Given the description of an element on the screen output the (x, y) to click on. 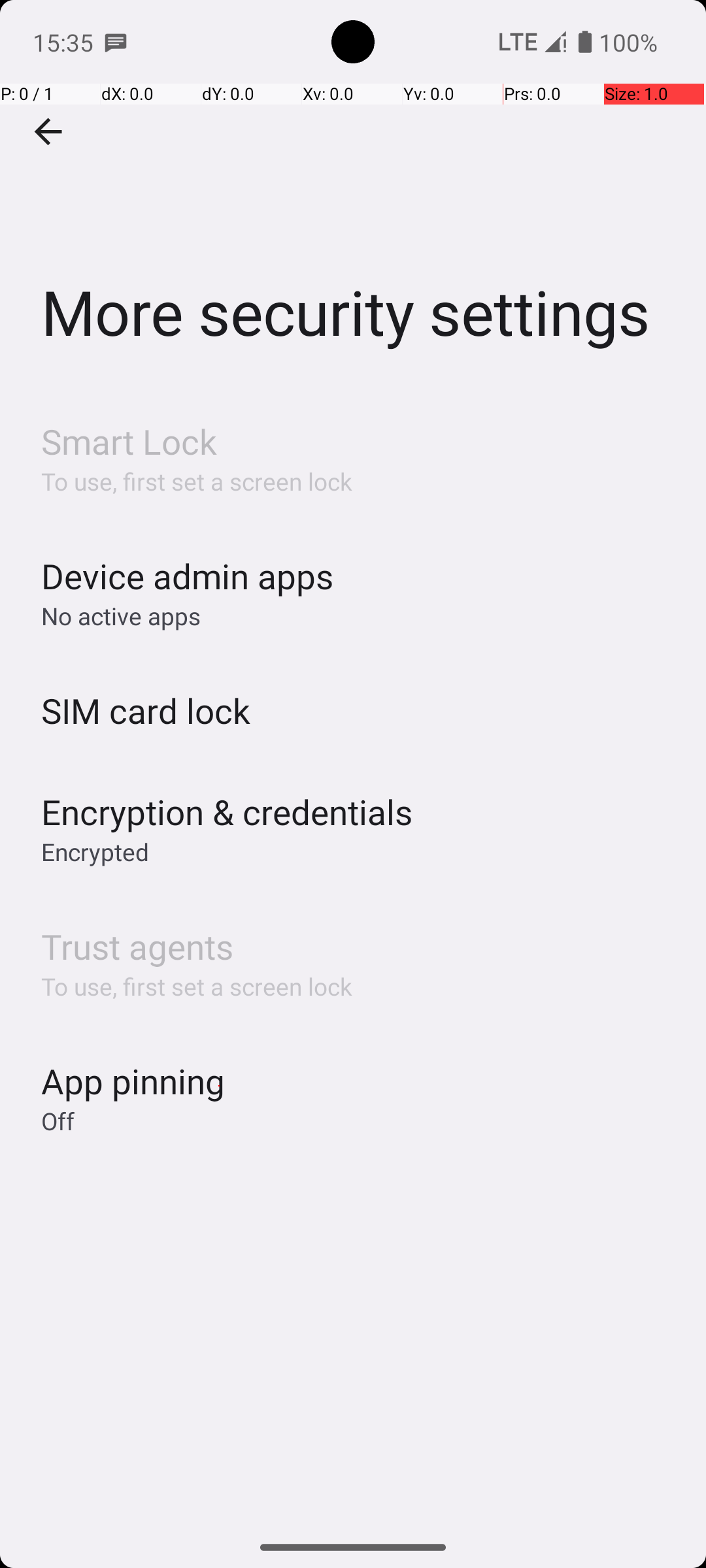
More security settings Element type: android.widget.FrameLayout (353, 195)
Smart Lock Element type: android.widget.TextView (129, 441)
To use, first set a screen lock Element type: android.widget.TextView (196, 480)
Device admin apps Element type: android.widget.TextView (187, 575)
No active apps Element type: android.widget.TextView (120, 615)
SIM card lock Element type: android.widget.TextView (145, 710)
Encryption & credentials Element type: android.widget.TextView (226, 811)
Encrypted Element type: android.widget.TextView (95, 851)
Trust agents Element type: android.widget.TextView (137, 946)
App pinning Element type: android.widget.TextView (132, 1080)
